Given the description of an element on the screen output the (x, y) to click on. 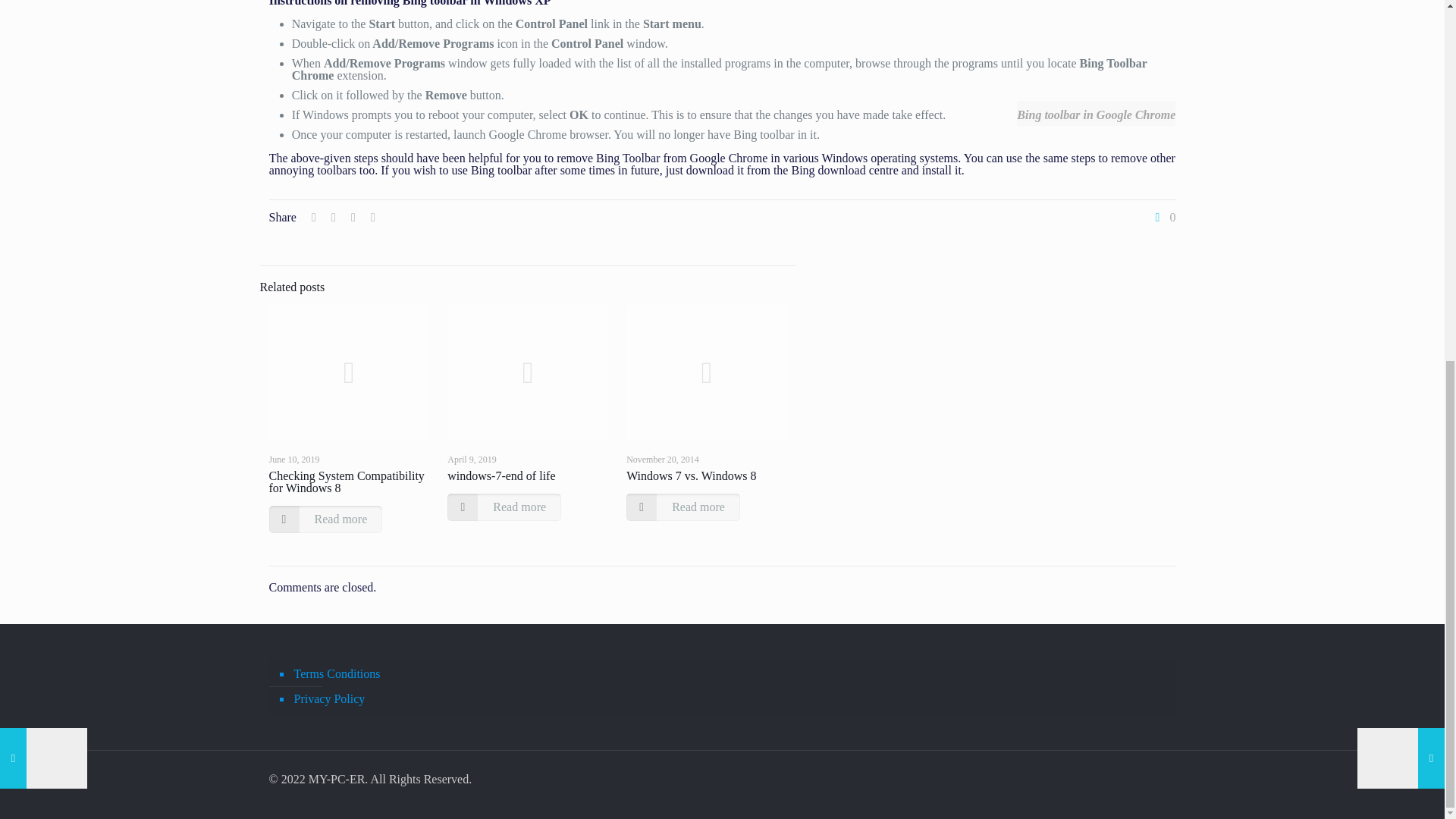
Privacy Policy (729, 699)
Read more (682, 506)
Windows 7 vs. Windows 8 (690, 475)
windows-7-end of life (500, 475)
Checking System Compatibility for Windows 8 (345, 481)
0 (1162, 217)
Terms Conditions (729, 674)
Read more (324, 519)
Read more (503, 506)
